Given the description of an element on the screen output the (x, y) to click on. 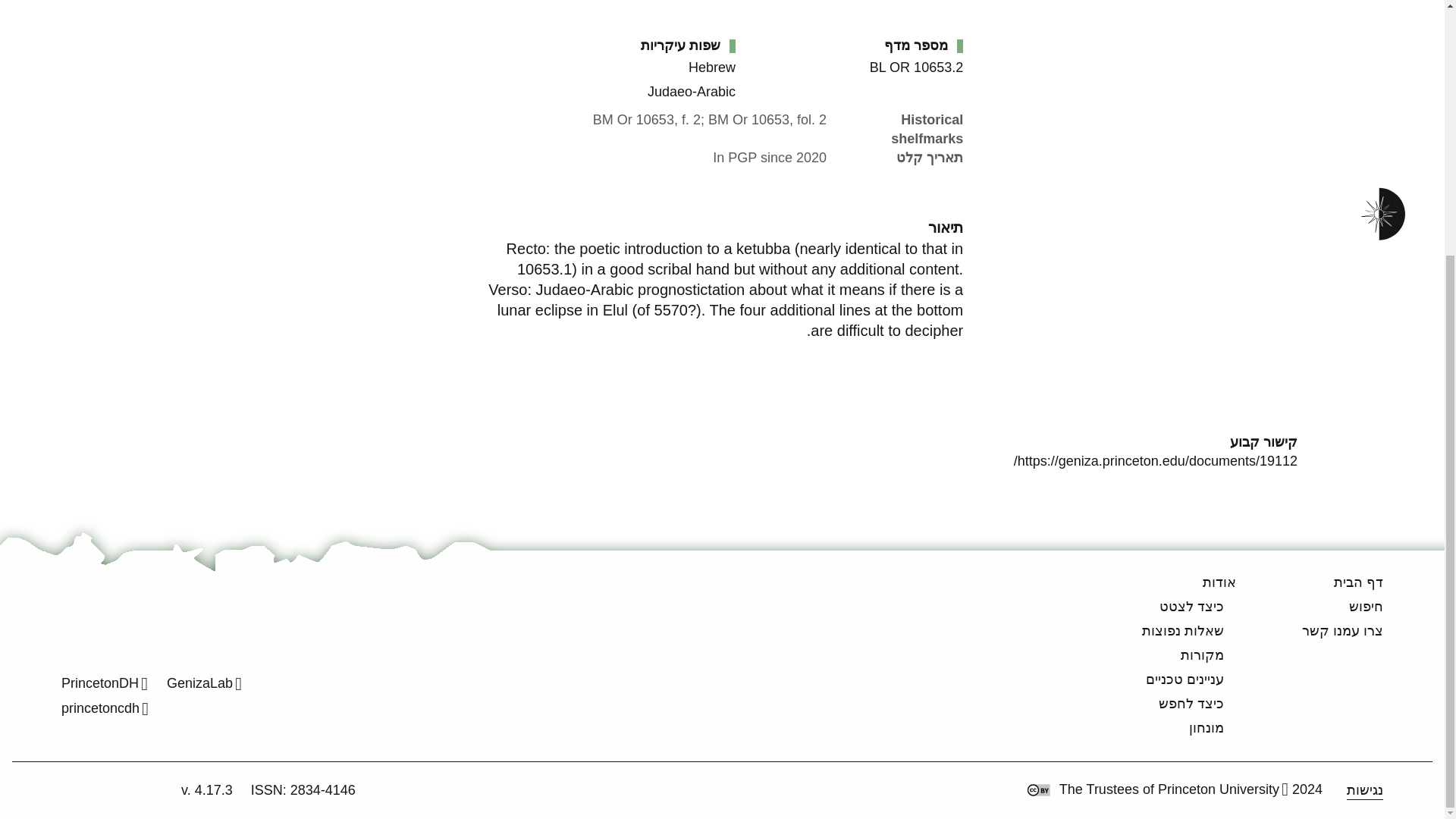
PrincetonDH (104, 683)
GenizaLab (204, 683)
v. 4.17.3 (206, 790)
princetoncdh (104, 708)
